Given the description of an element on the screen output the (x, y) to click on. 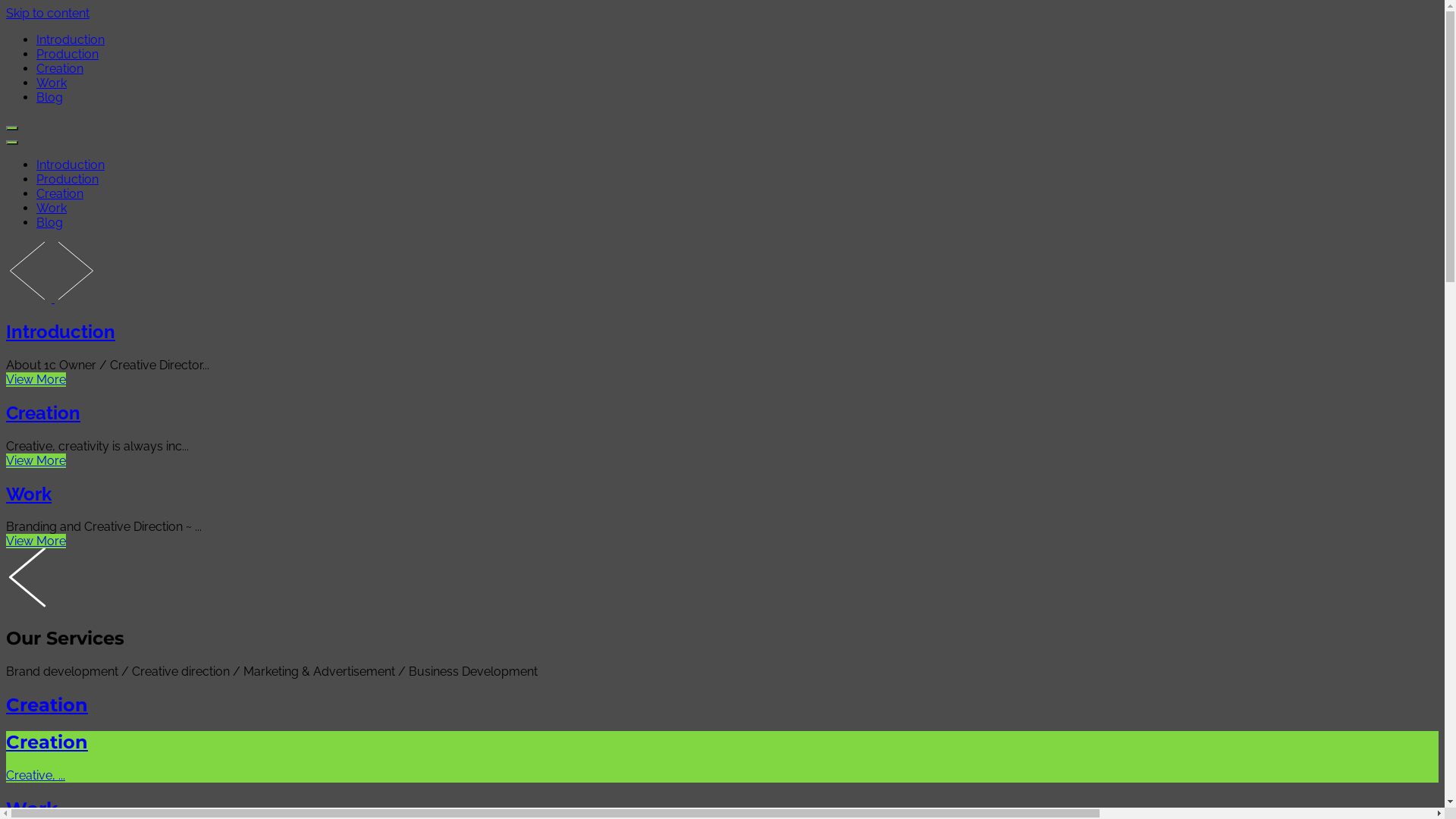
Blog Element type: text (49, 97)
Creation Element type: text (59, 68)
Creation
Creation
Creative, ... Element type: text (722, 737)
Work Element type: text (51, 207)
-1c- Branding and Creative direction Element type: text (95, 51)
Introduction Element type: text (70, 39)
Production Element type: text (67, 179)
Work Element type: text (51, 82)
View More Element type: text (35, 540)
Creation Element type: text (43, 412)
View More Element type: text (35, 379)
Introduction Element type: text (60, 331)
View More Element type: text (35, 460)
Creation Element type: text (59, 193)
Production Element type: text (67, 54)
Work Element type: text (28, 494)
Blog Element type: text (49, 222)
Skip to content Element type: text (47, 13)
Introduction Element type: text (70, 164)
